Given the description of an element on the screen output the (x, y) to click on. 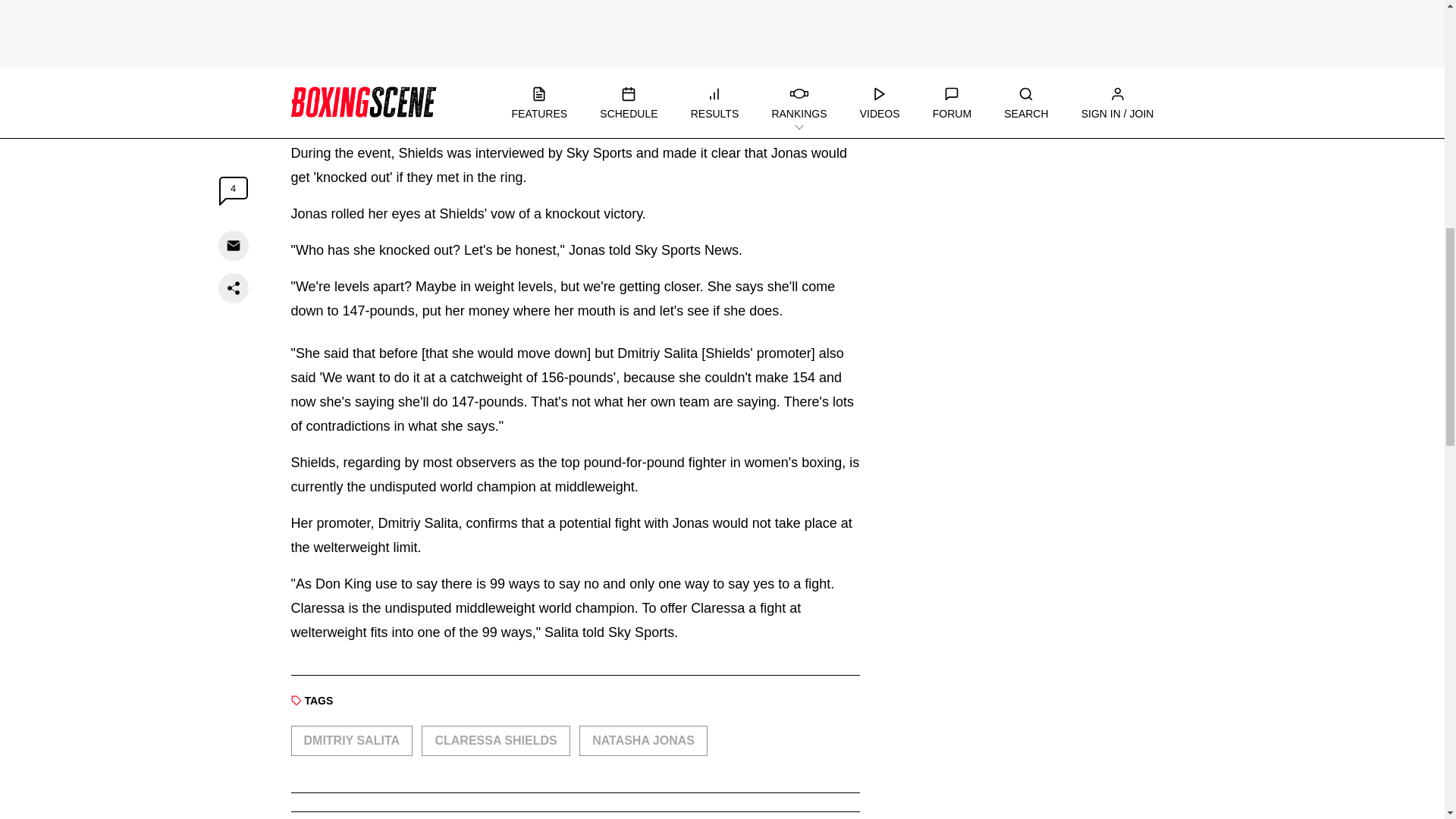
DMITRIY SALITA (352, 740)
CLARESSA SHIELDS (495, 740)
NATASHA JONAS (643, 740)
